Given the description of an element on the screen output the (x, y) to click on. 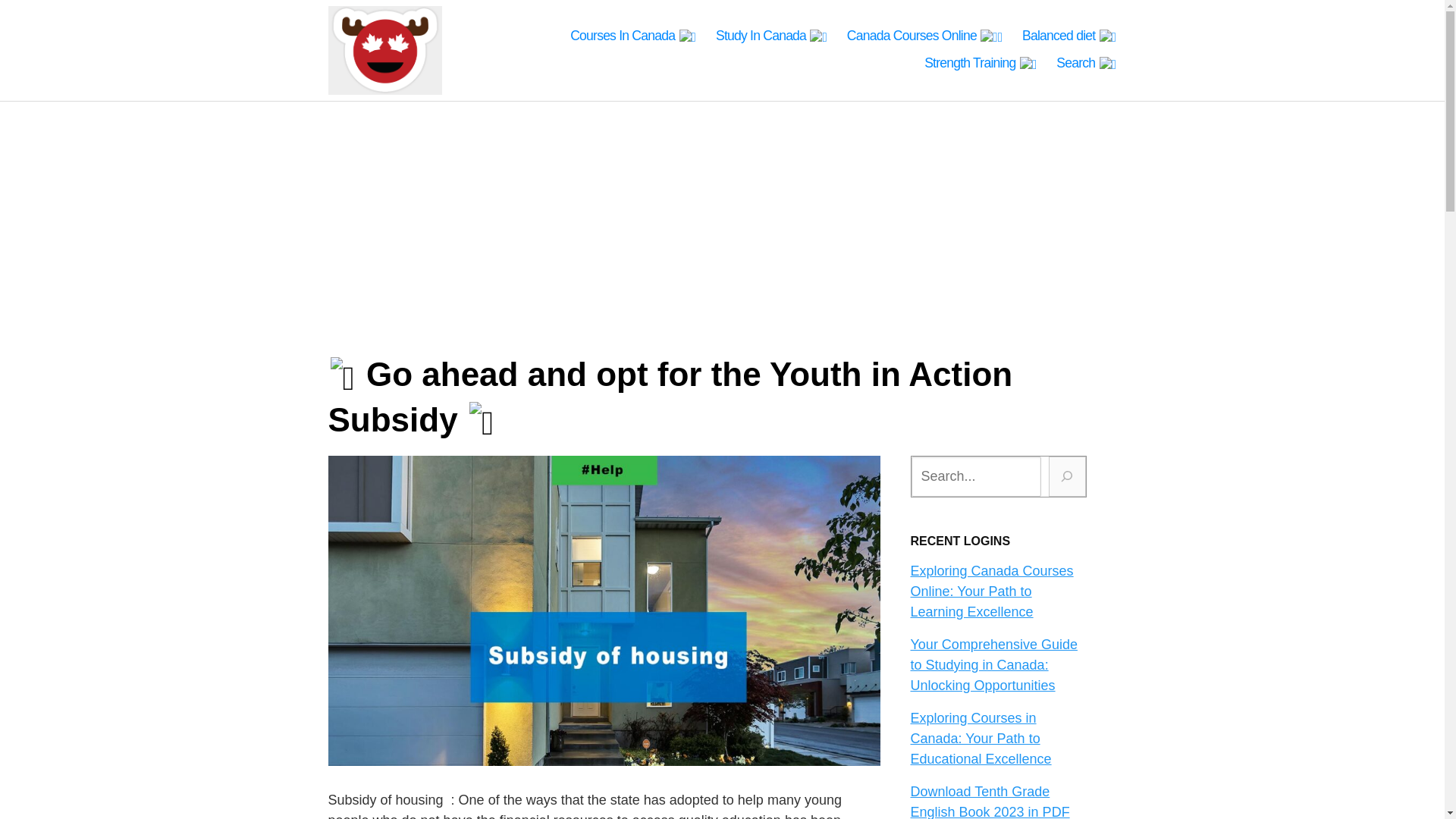
Canada Courses Online (925, 36)
Balanced diet (1069, 36)
Strength Training (980, 63)
Search (1086, 63)
Courses In Canada (632, 36)
Study In Canada (771, 36)
